Given the description of an element on the screen output the (x, y) to click on. 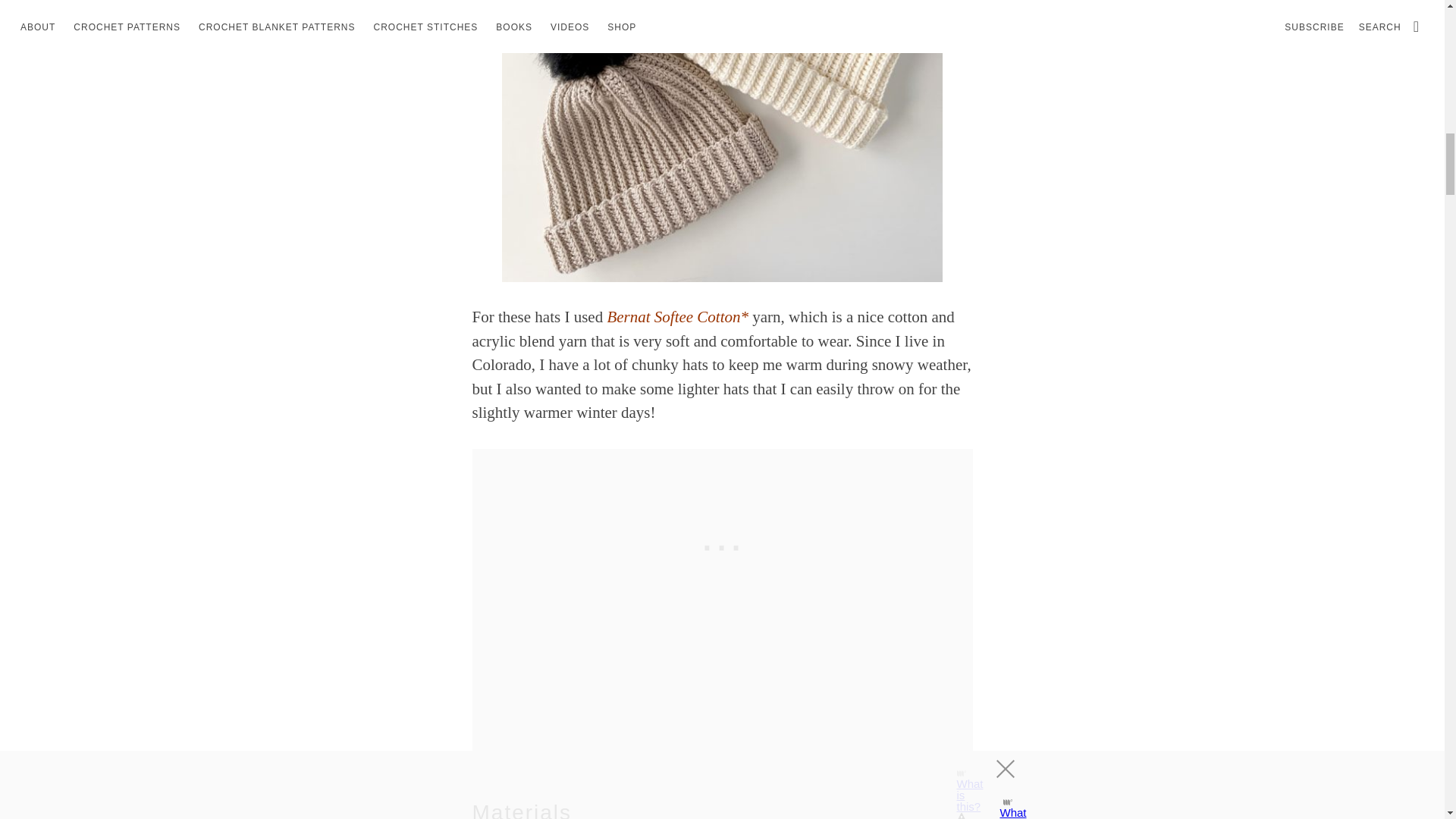
3rd party ad content (721, 543)
